Given the description of an element on the screen output the (x, y) to click on. 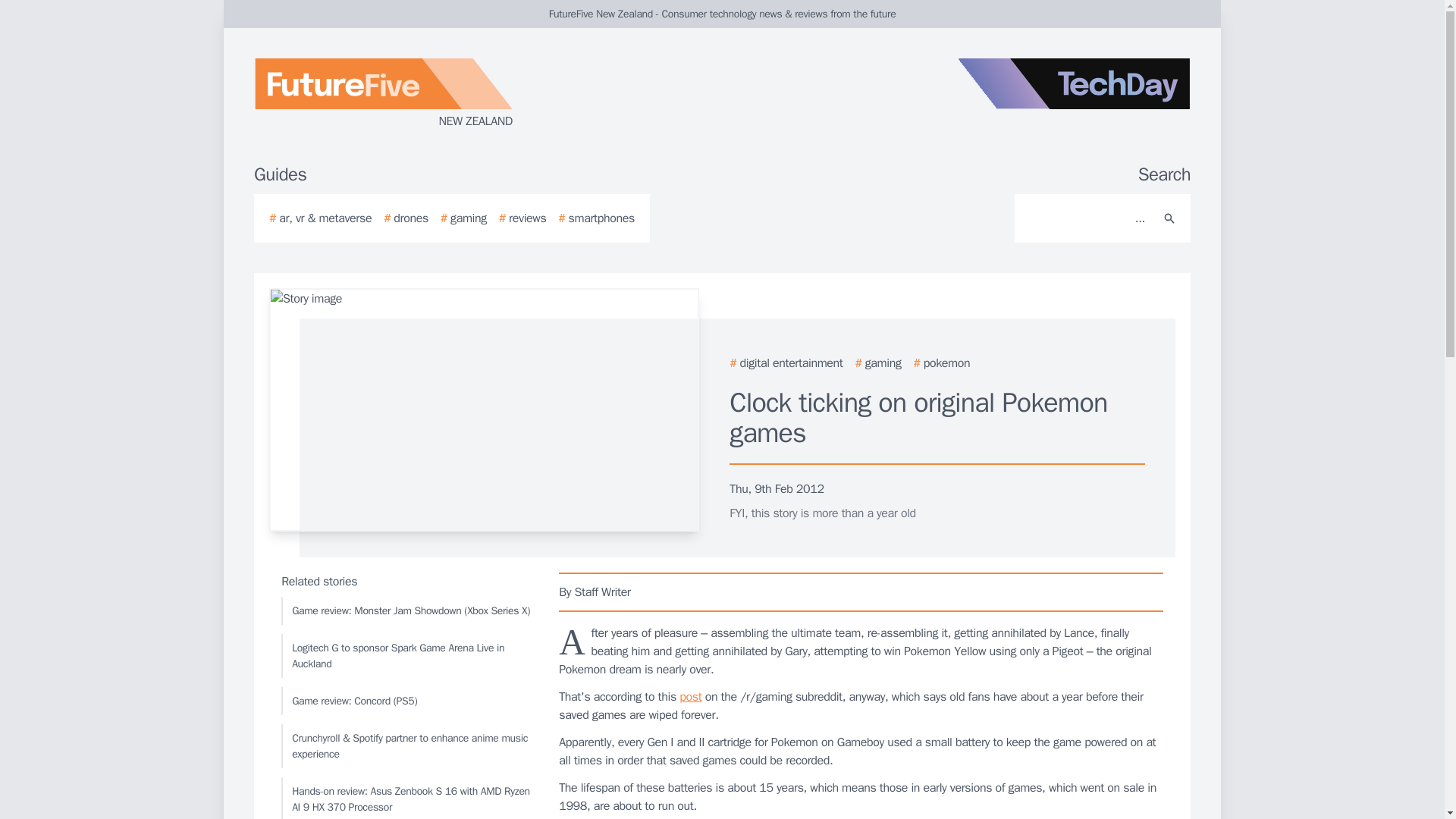
post (690, 696)
Logitech G to sponsor Spark Game Arena Live in Auckland (406, 655)
By Staff Writer (861, 592)
NEW ZEALAND (435, 94)
